Given the description of an element on the screen output the (x, y) to click on. 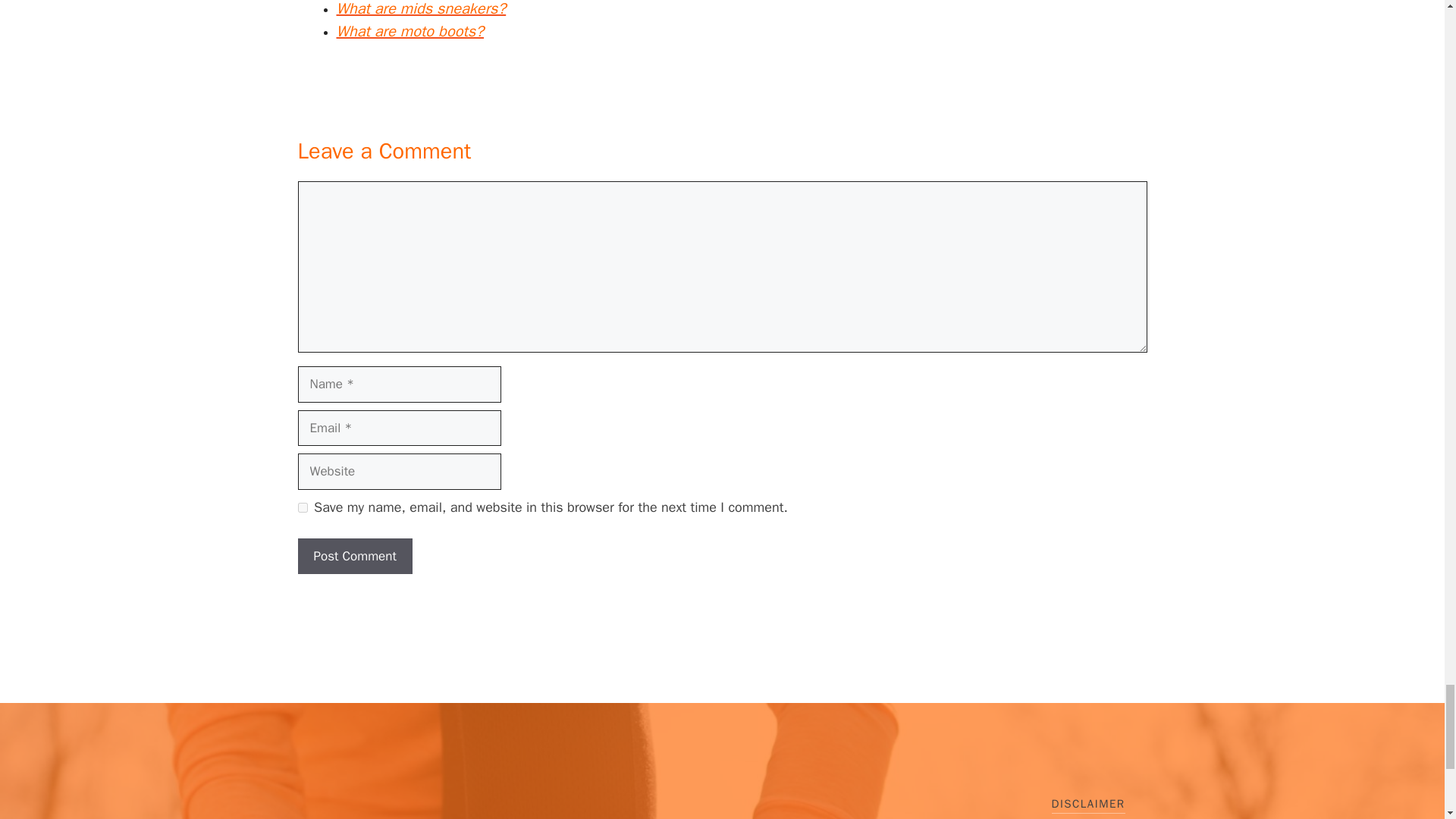
What are mids sneakers? (421, 9)
yes (302, 507)
Post Comment (354, 556)
What are moto boots? (410, 31)
